Given the description of an element on the screen output the (x, y) to click on. 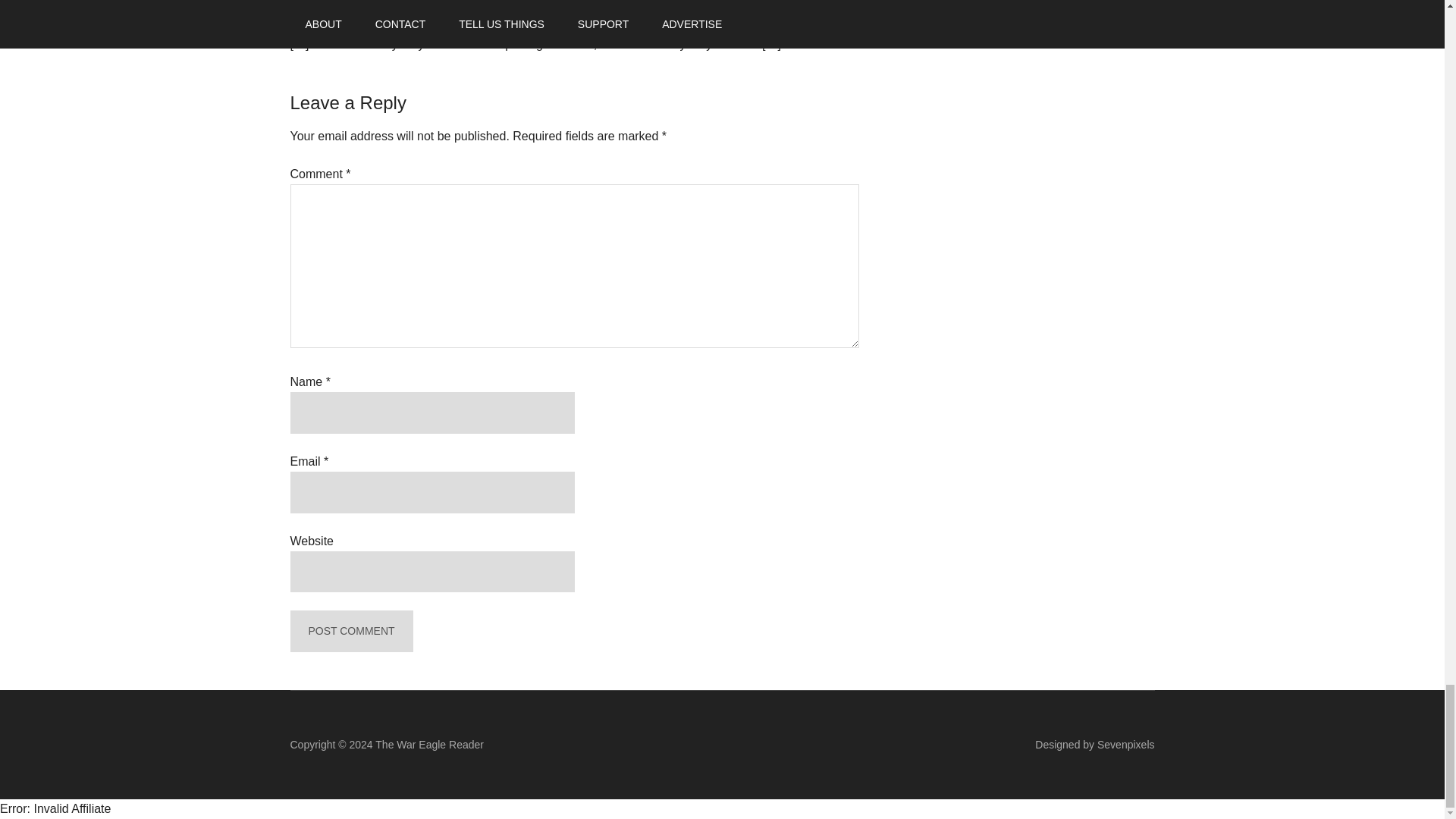
Post Comment (350, 630)
